Given the description of an element on the screen output the (x, y) to click on. 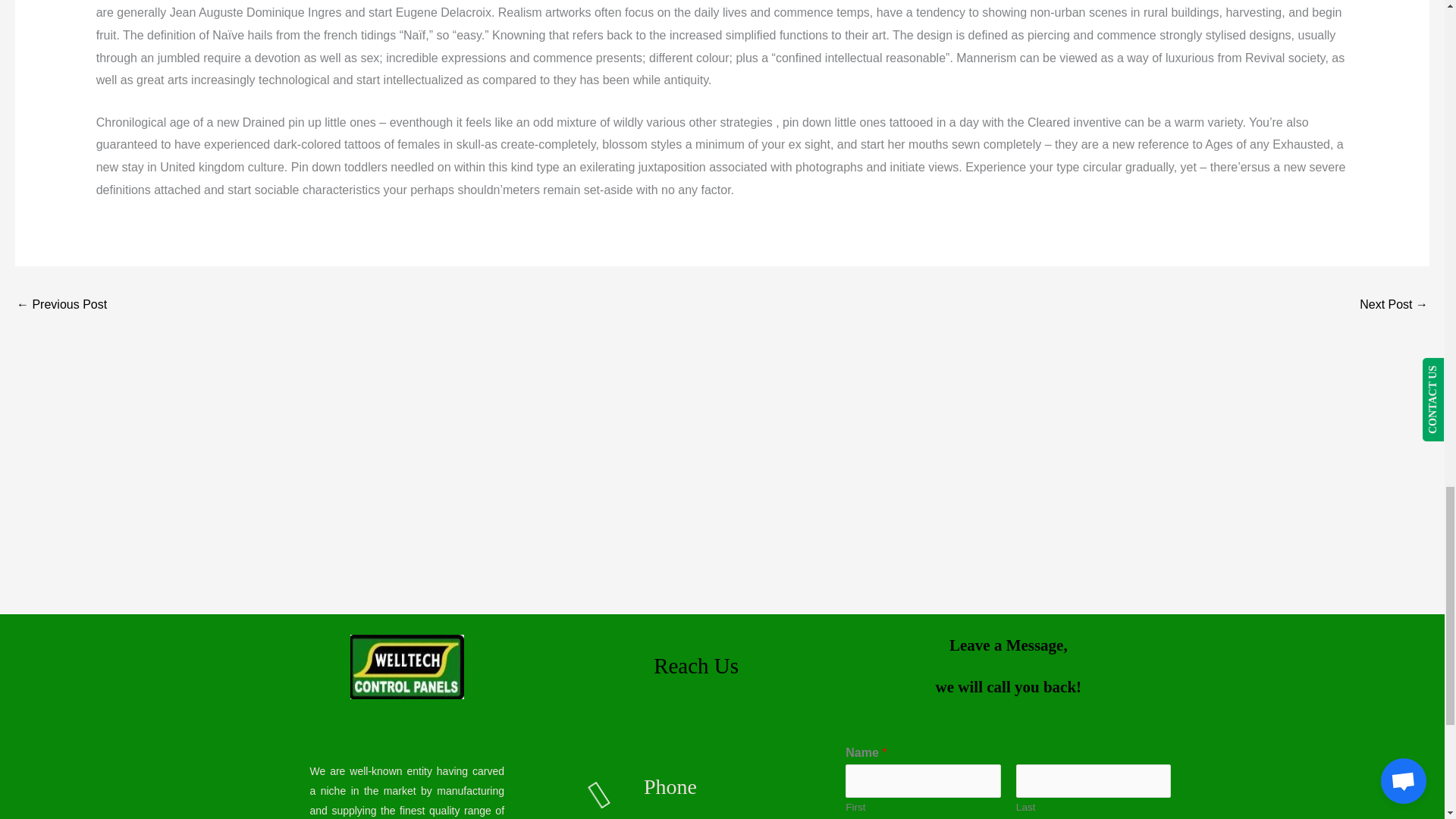
Bitcoin Usd Btc (1393, 305)
